Given the description of an element on the screen output the (x, y) to click on. 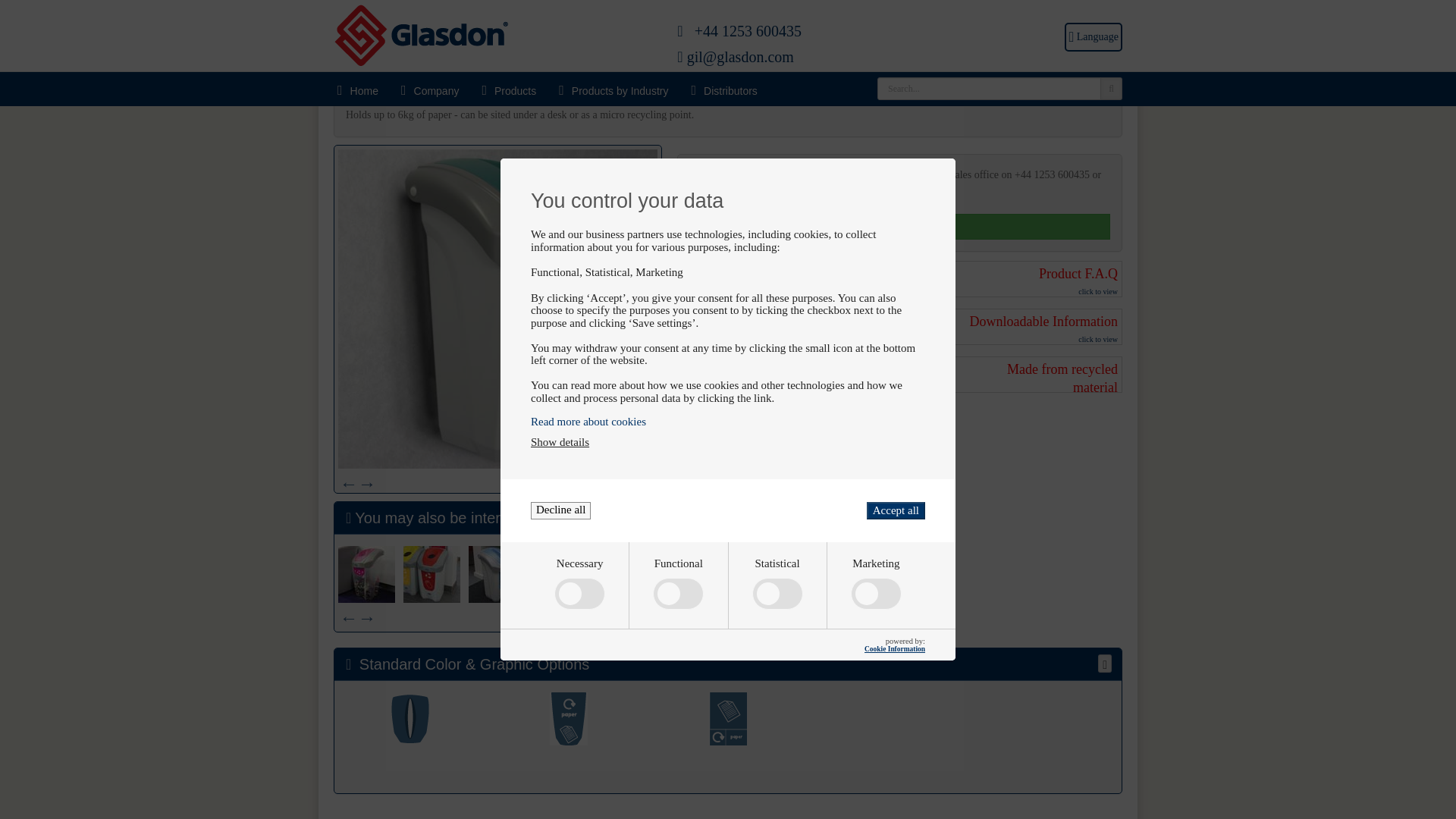
Cookie Information (894, 542)
Decline all (561, 404)
Accept all (895, 404)
Show details (560, 336)
Read more about cookies (727, 315)
